Given the description of an element on the screen output the (x, y) to click on. 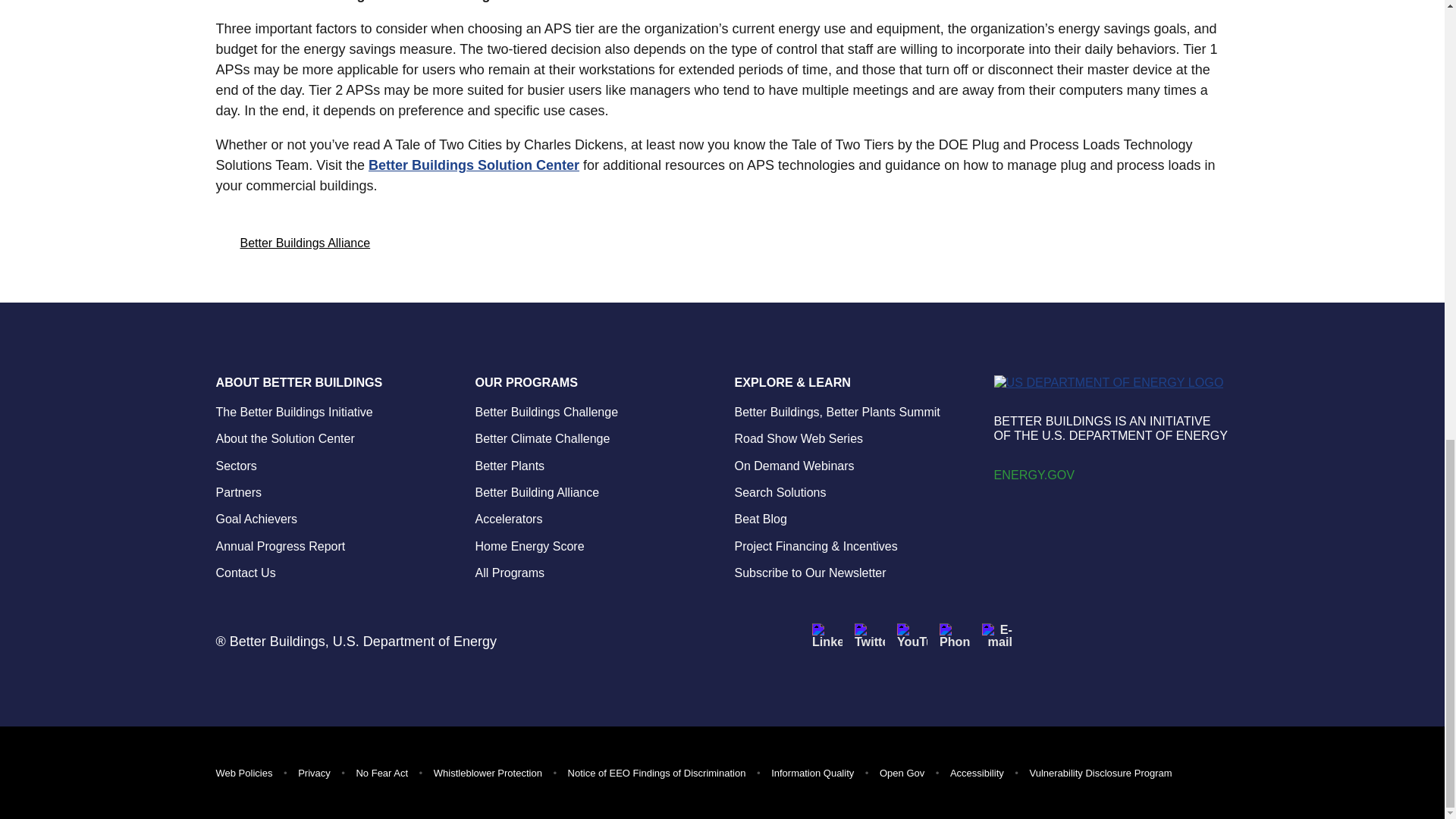
Better Building Alliance (536, 492)
Sectors (235, 465)
Better Plants (509, 465)
OUR PROGRAMS (592, 381)
Contact Us (245, 572)
Goal Achievers (256, 518)
About the Solution Center (284, 438)
The Better Buildings Initiative (293, 411)
Annual Progress Report (280, 545)
ABOUT BETTER BUILDINGS (332, 381)
